Given the description of an element on the screen output the (x, y) to click on. 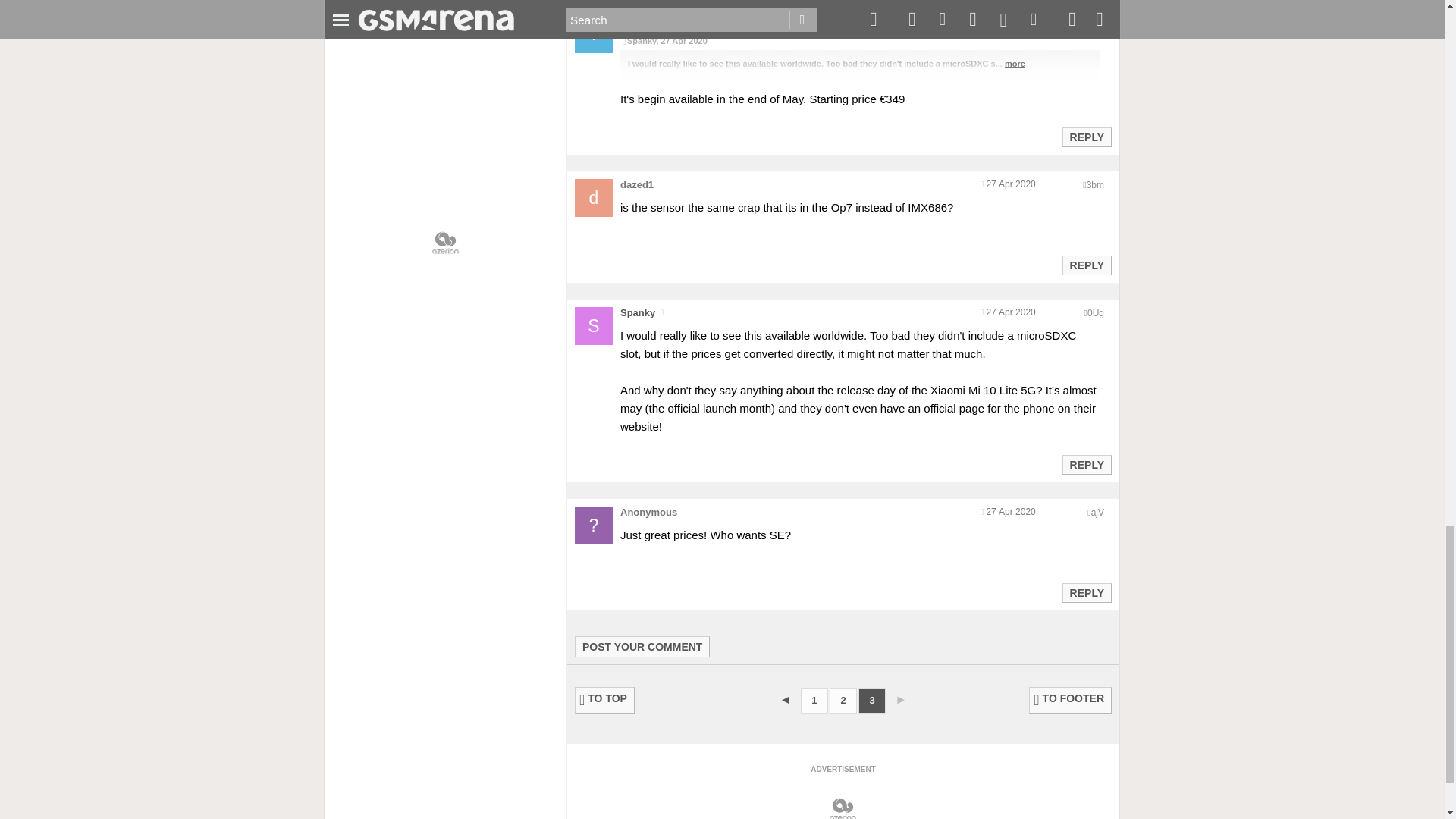
TO TOP (604, 700)
